Given the description of an element on the screen output the (x, y) to click on. 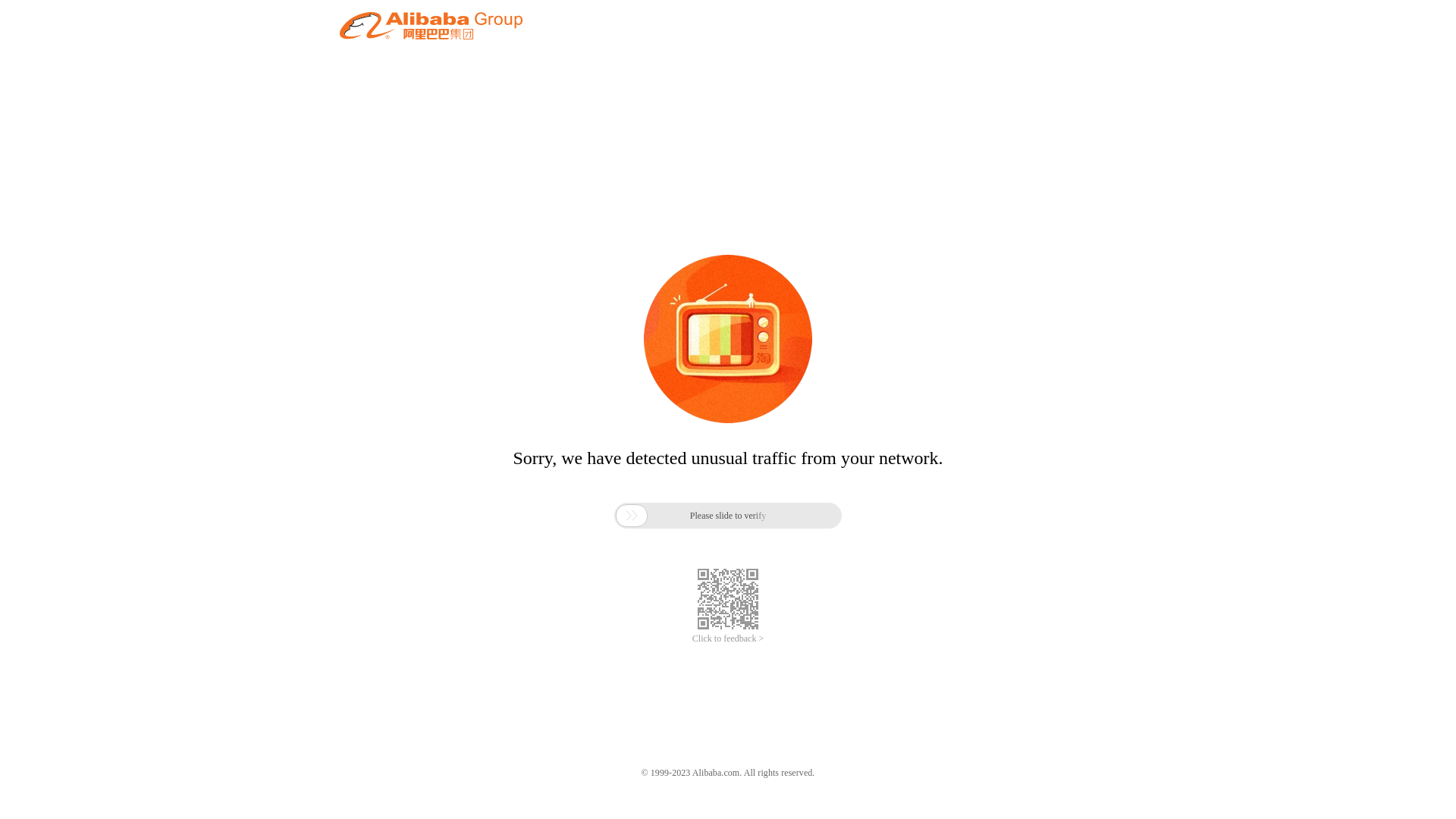
Click to feedback > Element type: text (727, 638)
